Given the description of an element on the screen output the (x, y) to click on. 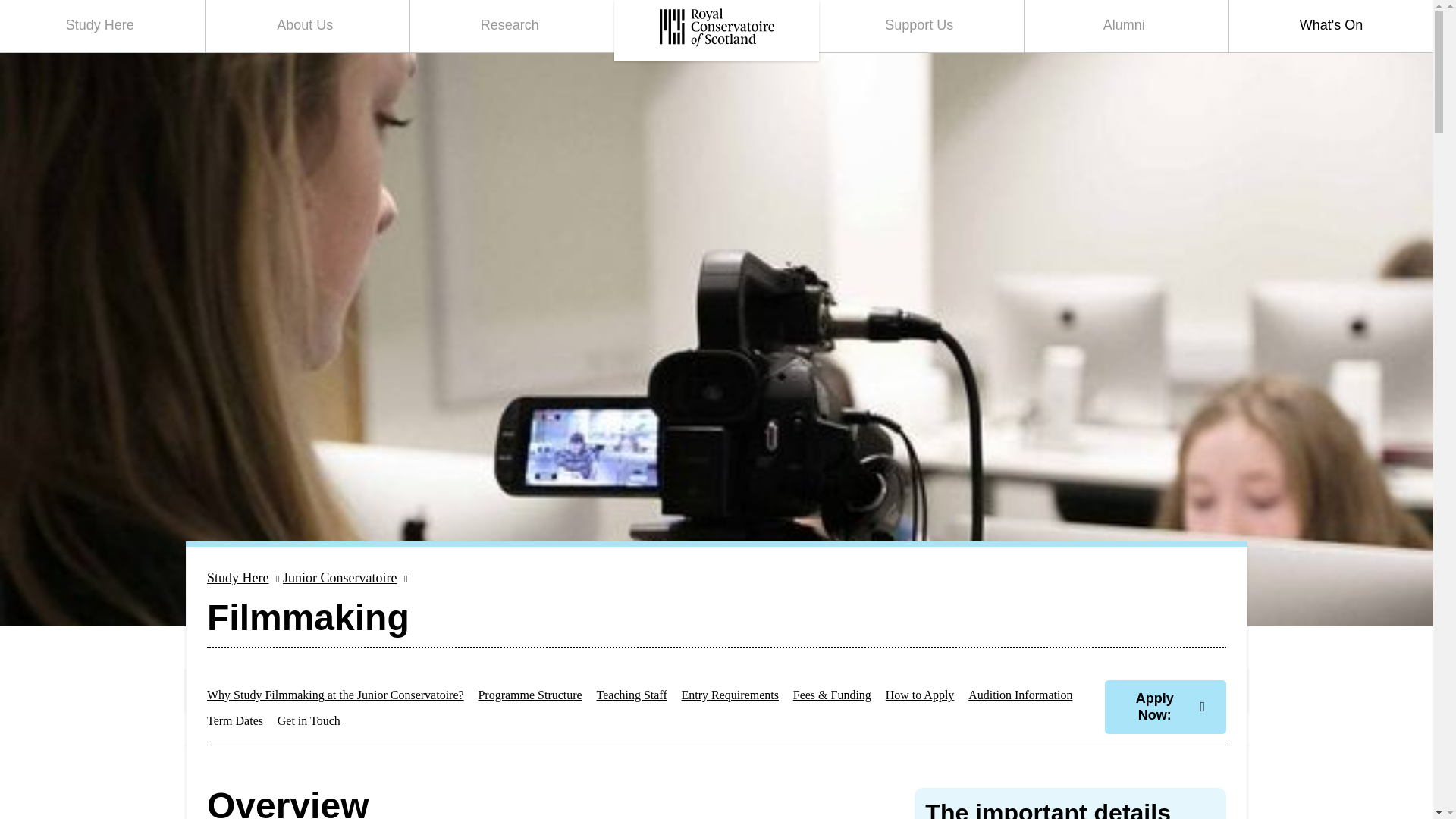
Royal Conservatoire of Scotland (716, 30)
Royal Conservatoire of Scotland (716, 27)
